Given the description of an element on the screen output the (x, y) to click on. 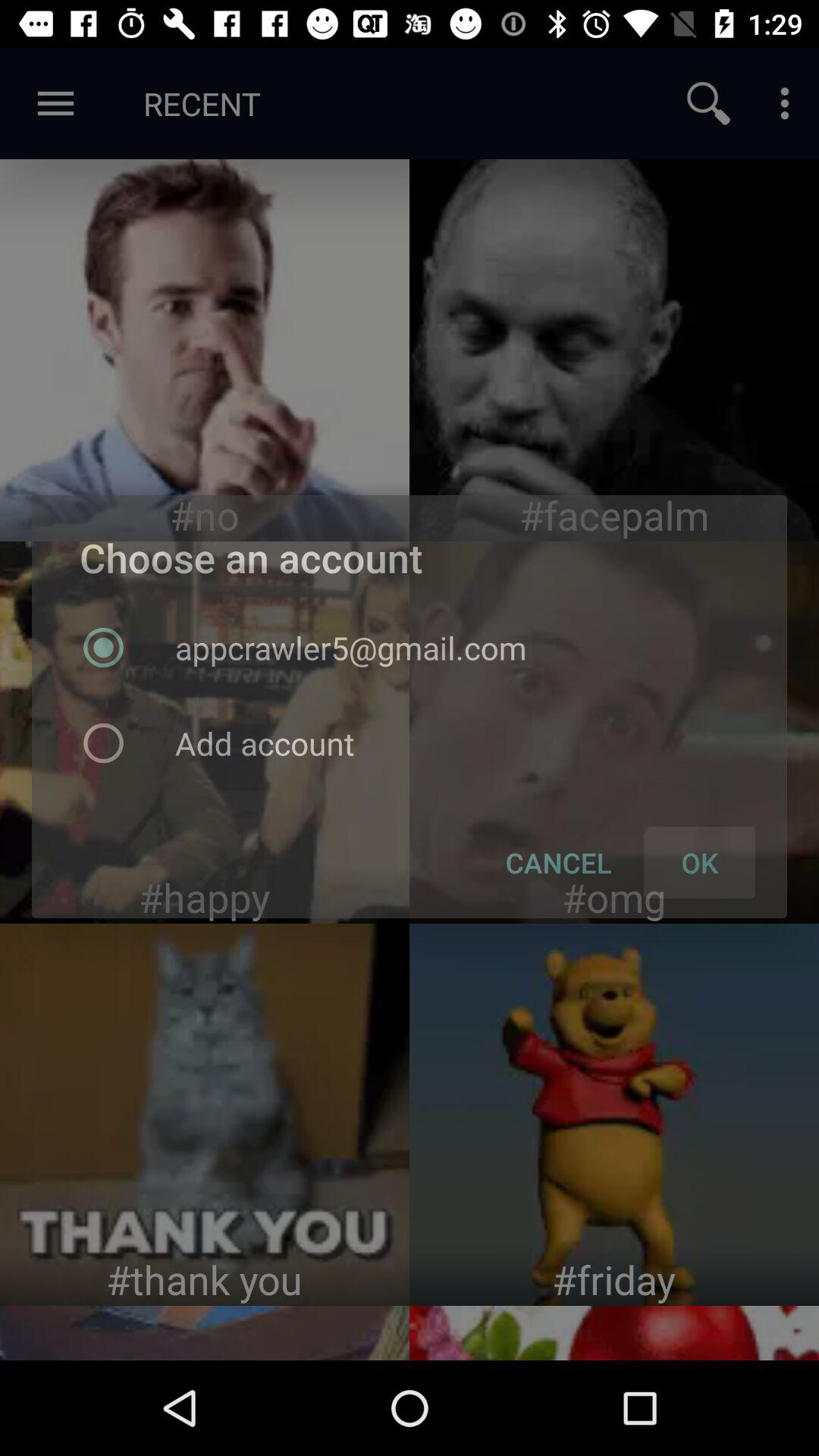
open settings (784, 103)
